Given the description of an element on the screen output the (x, y) to click on. 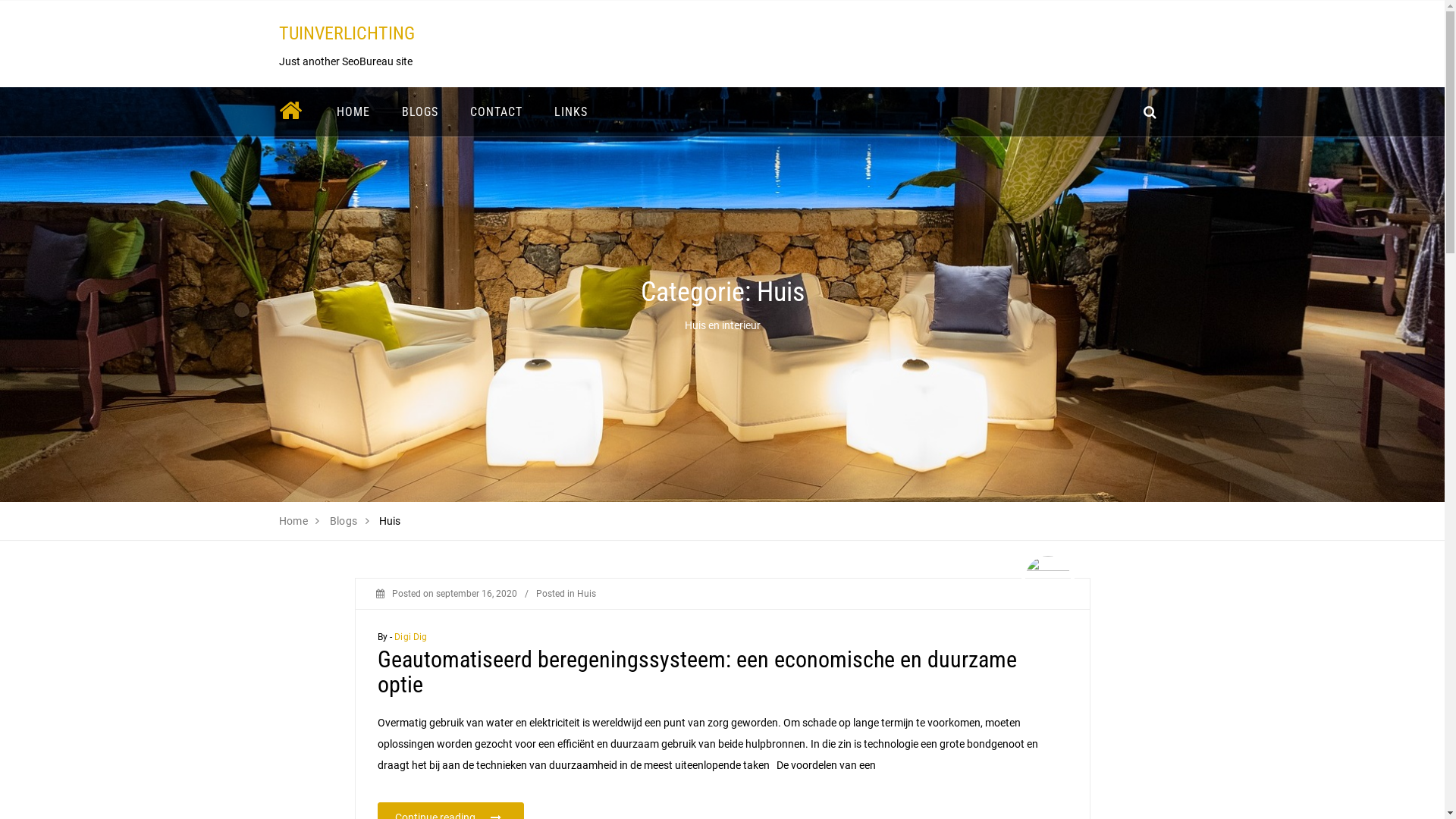
CONTACT Element type: text (495, 111)
HOME Element type: text (352, 111)
september 16, 2020 Element type: text (475, 593)
Digi Dig Element type: text (410, 636)
BLOGS Element type: text (419, 111)
Home Element type: text (293, 520)
Huis Element type: text (585, 593)
LINKS Element type: text (570, 111)
Blogs Element type: text (343, 520)
search_icon Element type: hover (1148, 111)
TUINVERLICHTING Element type: text (346, 32)
